Given the description of an element on the screen output the (x, y) to click on. 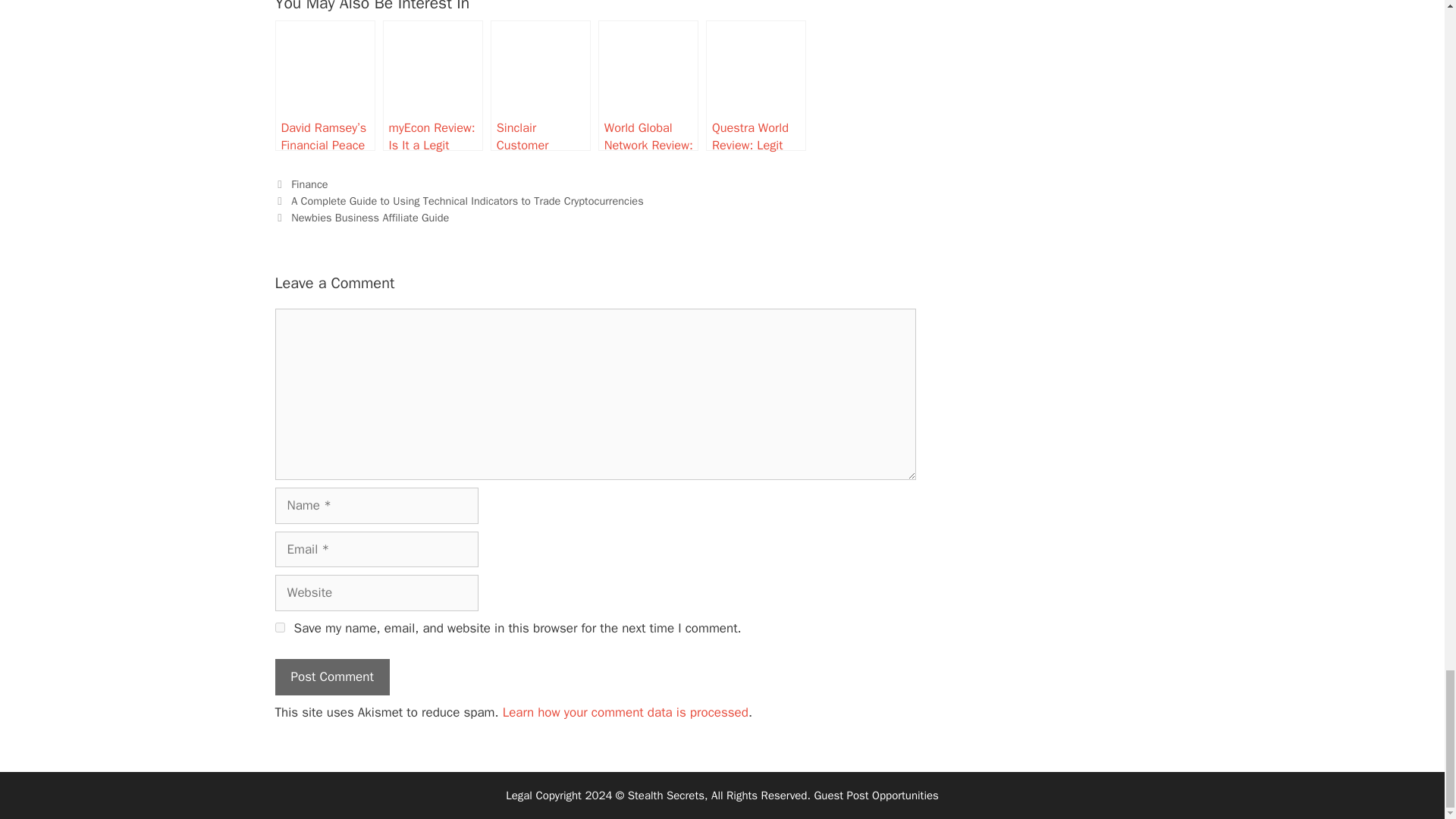
Sinclair Customer Metrics Review: Legit Or Scam? (540, 85)
Previous (459, 201)
myEcon Review: Is It a Legit Business Or A Scam? (432, 85)
Next (361, 217)
Questra World Review: Legit Investment Site Or Scam? (756, 85)
Sinclair Customer Metrics Review:  Legit Or Scam? (540, 85)
yes (279, 627)
myEcon Review: Is It a Legit Business Or A Scam? (432, 85)
World Global Network Review: Legit Or Scam? (648, 85)
Post Comment (331, 677)
